Given the description of an element on the screen output the (x, y) to click on. 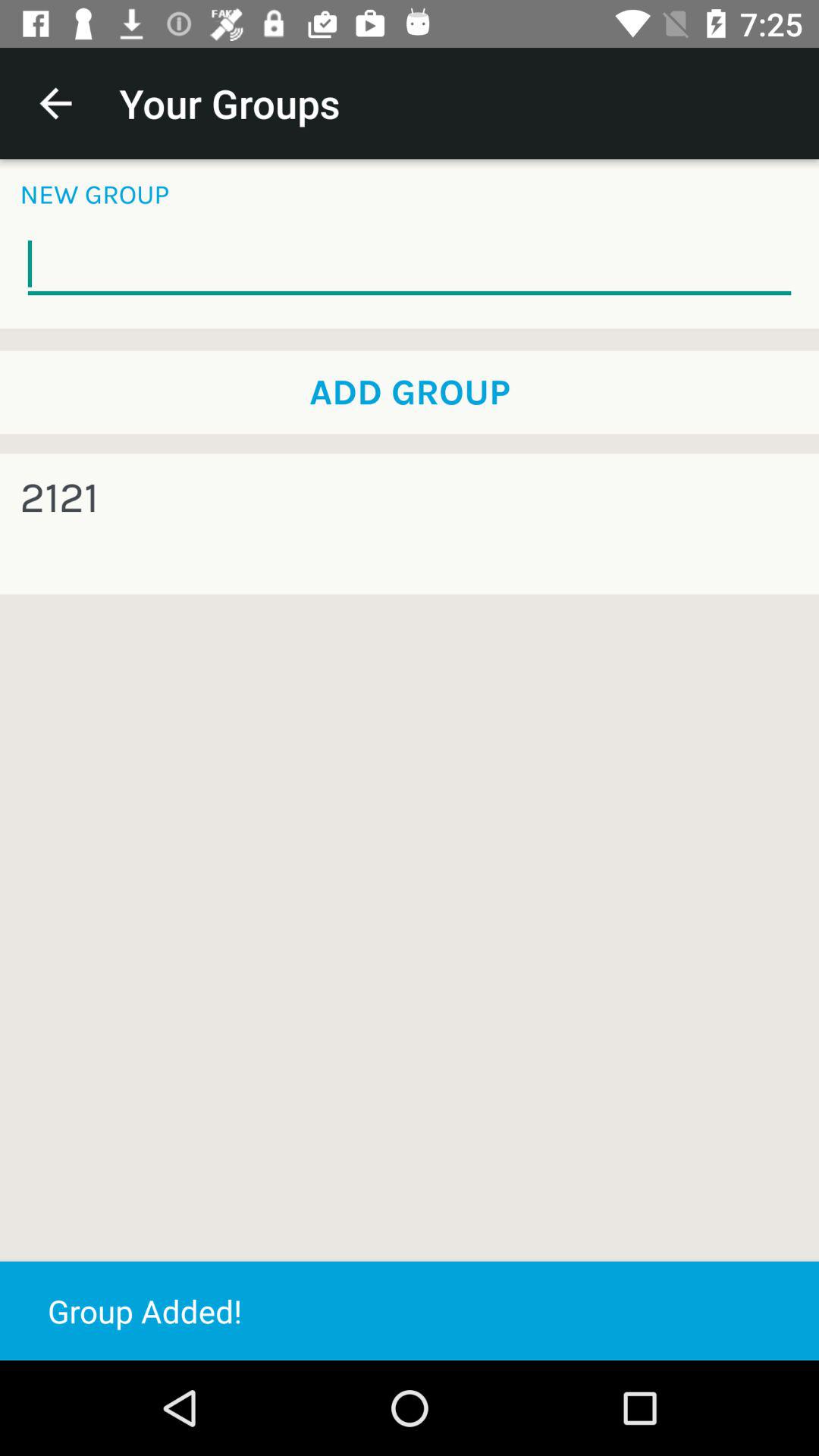
click 2121 item (58, 497)
